Given the description of an element on the screen output the (x, y) to click on. 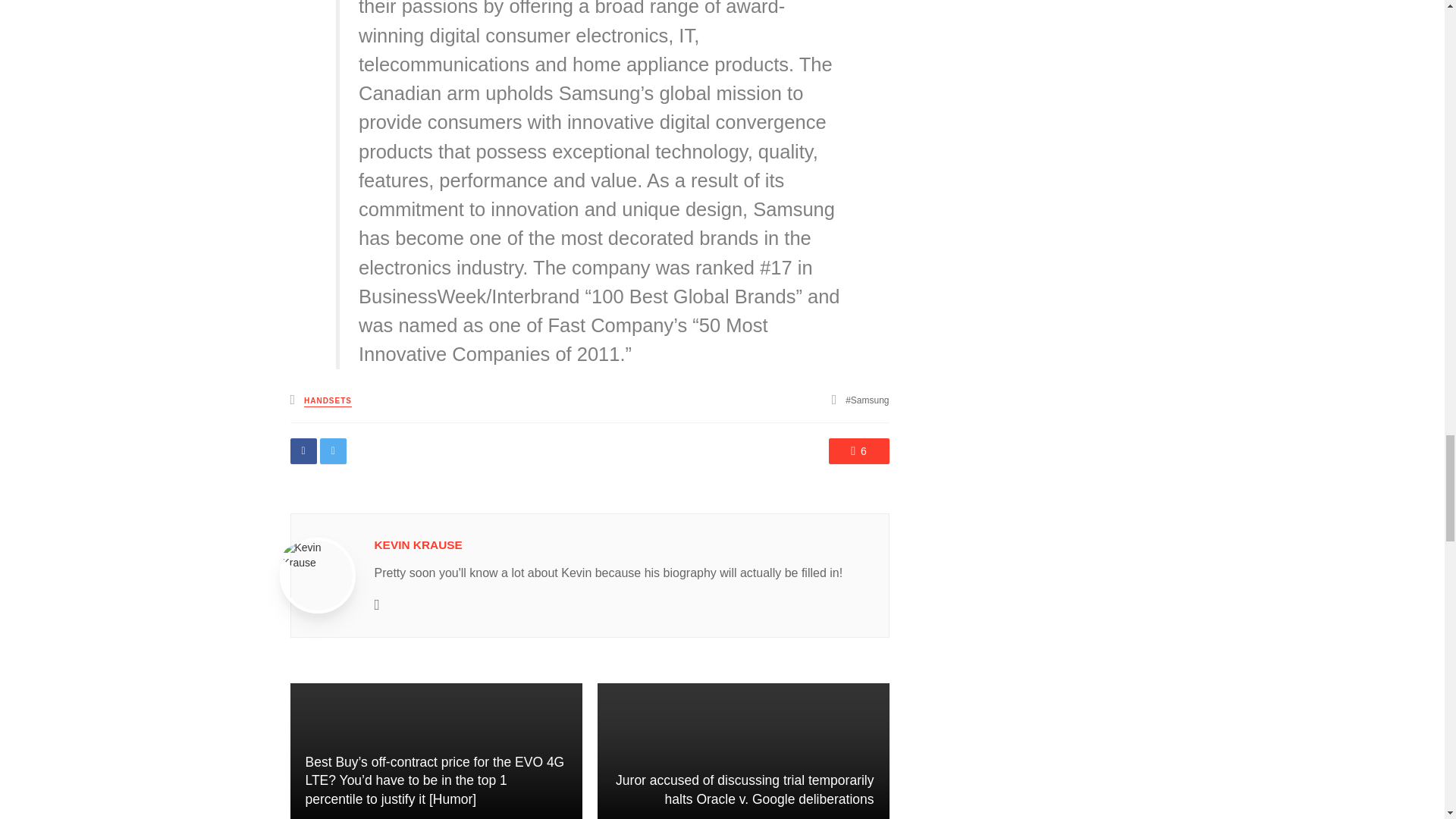
Posts by Kevin Krause (418, 544)
HANDSETS (328, 401)
KEVIN KRAUSE (418, 544)
6 Comments (858, 451)
6 (858, 451)
Share on Facebook (302, 451)
Share on Twitter (333, 451)
Samsung (866, 399)
